Given the description of an element on the screen output the (x, y) to click on. 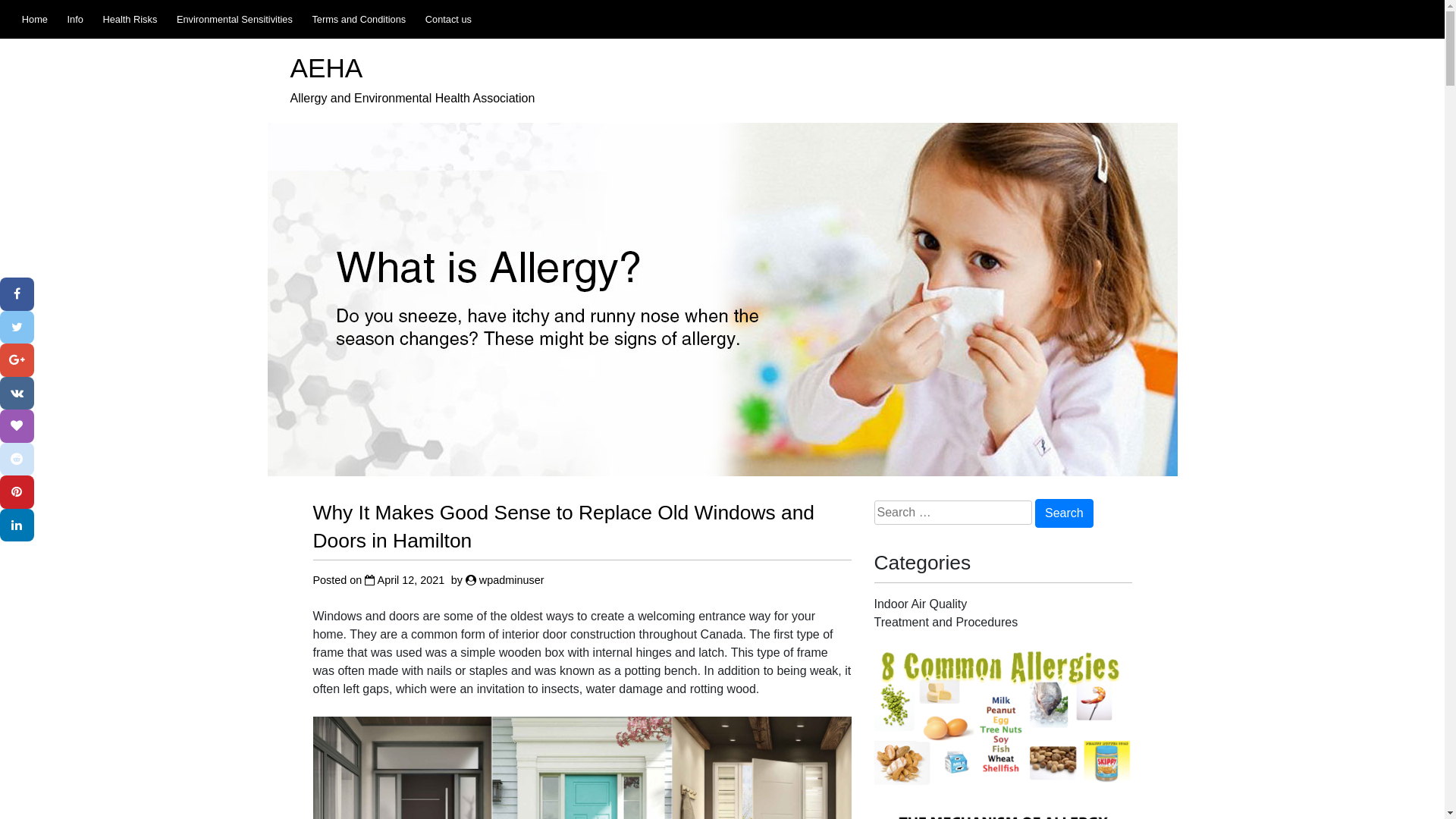
Contact us Element type: text (448, 19)
Like Element type: hover (17, 425)
Linkedin Element type: hover (17, 525)
Twitter Element type: hover (17, 327)
Google+ Element type: hover (17, 359)
Indoor Air Quality Element type: text (919, 603)
Reddit Element type: hover (17, 459)
Terms and Conditions Element type: text (358, 19)
Health Risks Element type: text (129, 19)
Treatment and Procedures Element type: text (945, 621)
Facebook Element type: hover (17, 293)
April 12, 2021 Element type: text (411, 580)
wpadminuser Element type: text (511, 580)
Home Element type: text (34, 19)
AEHA Element type: text (325, 68)
VKontakte Element type: hover (17, 393)
Pinterest Element type: hover (17, 491)
Environmental Sensitivities Element type: text (234, 19)
Search Element type: text (1064, 512)
Skip to content Element type: text (0, 0)
Info Element type: text (75, 19)
